Given the description of an element on the screen output the (x, y) to click on. 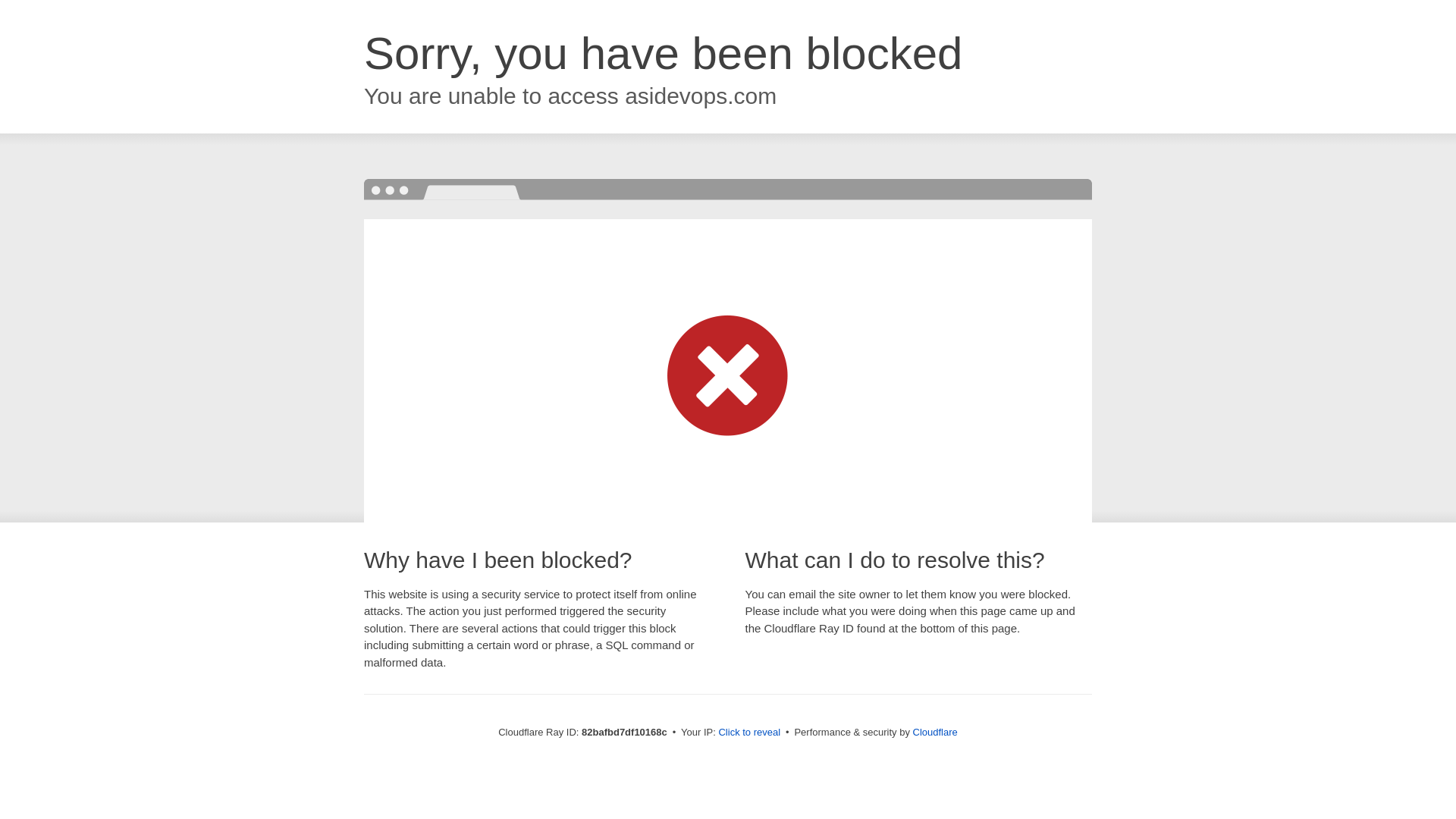
Cloudflare Element type: text (935, 731)
Click to reveal Element type: text (749, 732)
